Given the description of an element on the screen output the (x, y) to click on. 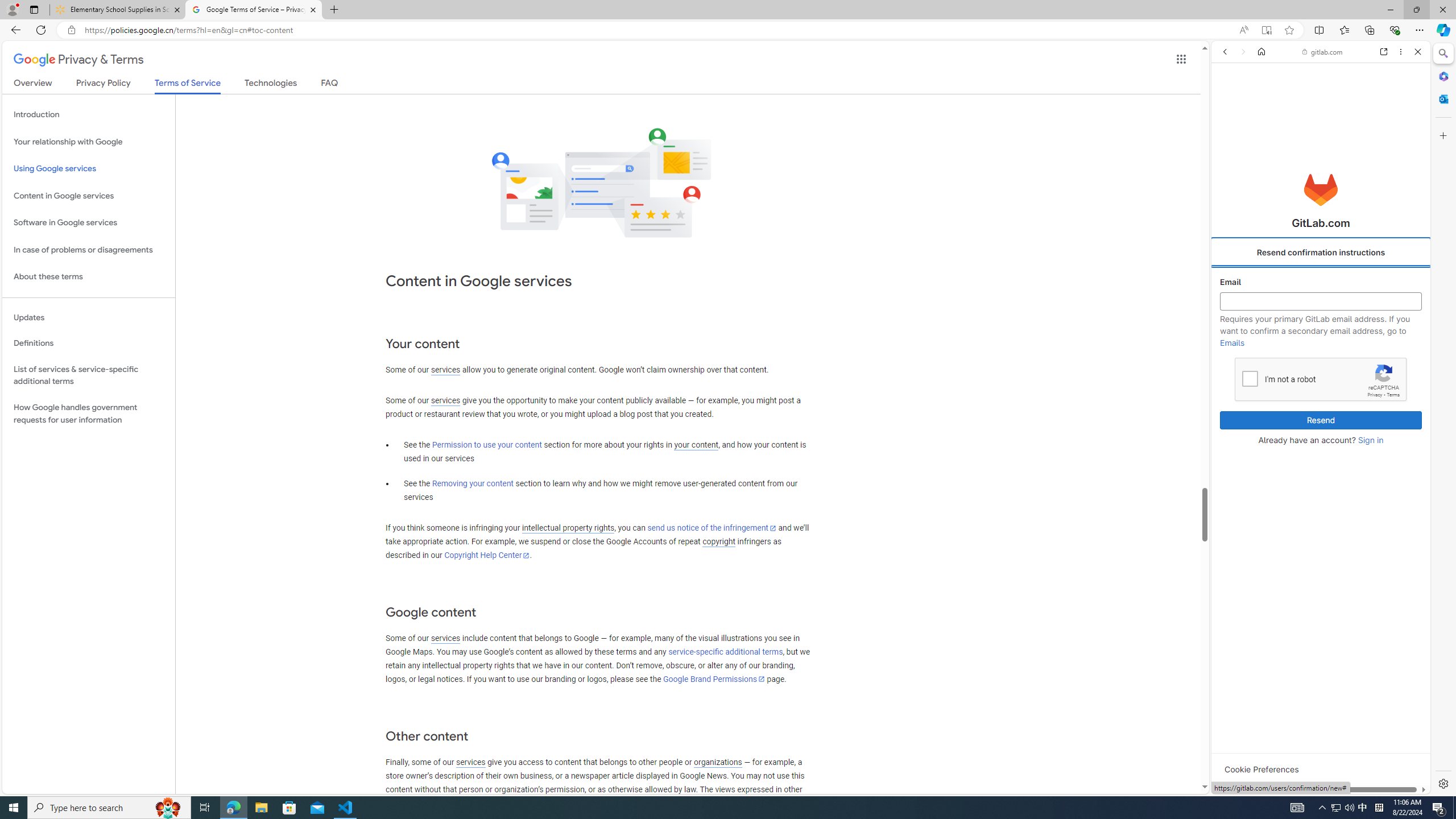
GitLab (1277, 794)
View details (1379, 554)
Email (1321, 301)
